Given the description of an element on the screen output the (x, y) to click on. 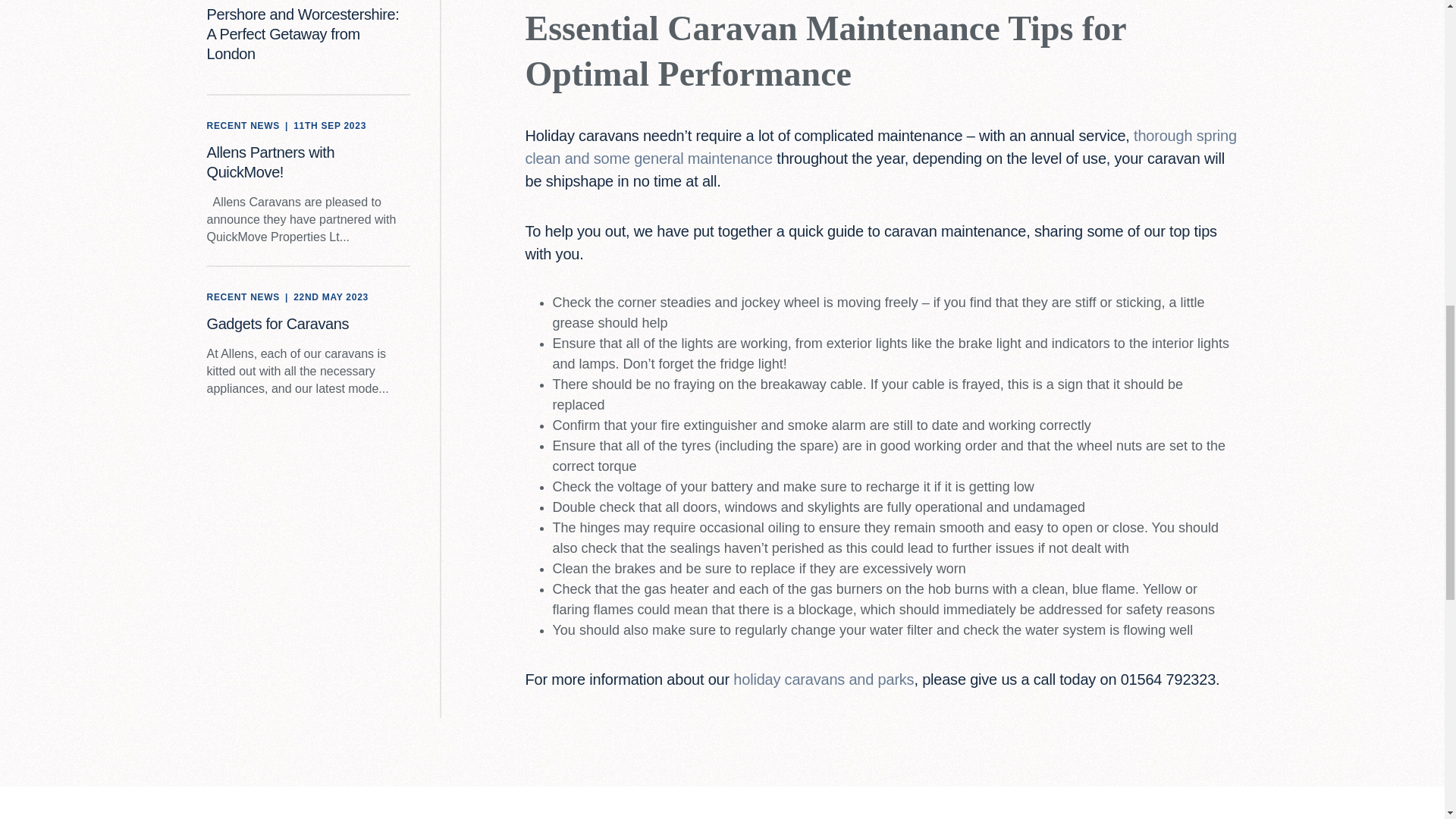
Pershore and Worcestershire: A Perfect Getaway from London (302, 33)
Allens Partners with QuickMove! (270, 162)
RECENT NEWS (242, 126)
RECENT NEWS (242, 297)
thorough spring clean and some general maintenance (880, 147)
Gadgets for Caravans (277, 323)
holiday caravans and parks (823, 678)
